Given the description of an element on the screen output the (x, y) to click on. 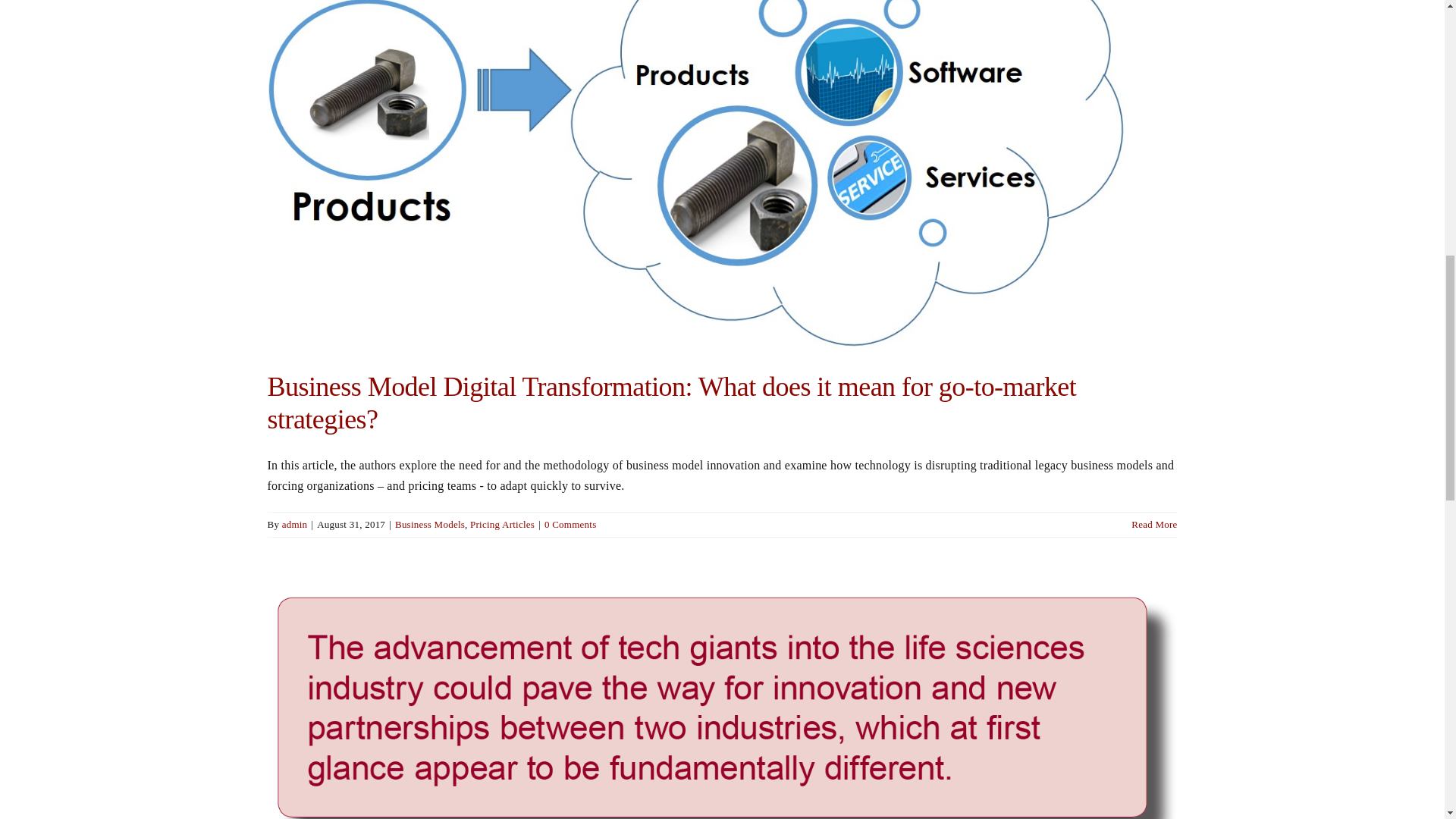
Posts by admin (294, 523)
